Given the description of an element on the screen output the (x, y) to click on. 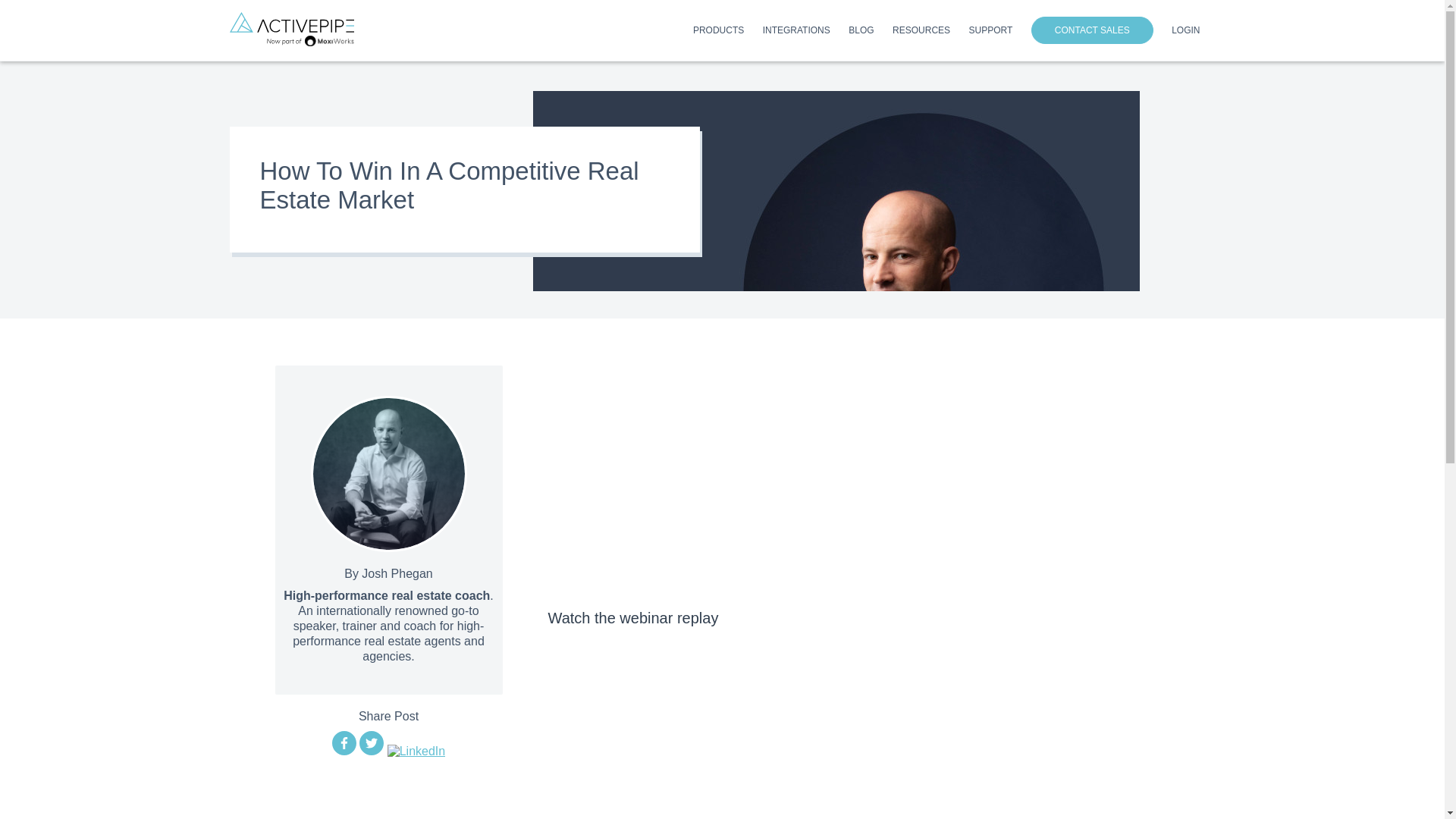
RESOURCES (921, 33)
PRODUCTS (718, 33)
CONTACT SALES (1091, 30)
SUPPORT (991, 33)
LOGIN (1185, 33)
BLOG (860, 33)
INTEGRATIONS (795, 33)
